Given the description of an element on the screen output the (x, y) to click on. 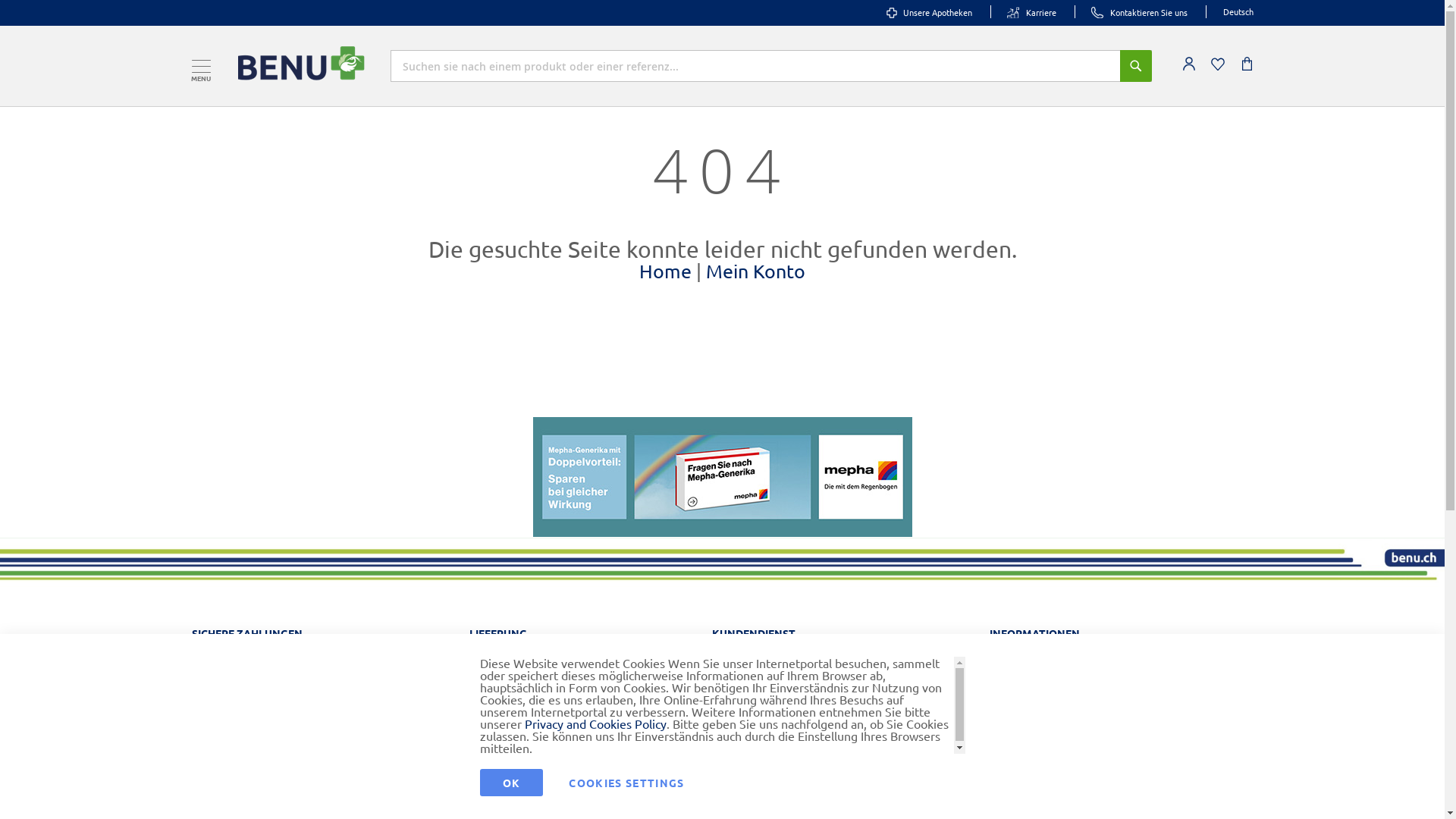
Kontaktieren Sie uns Element type: text (838, 664)
MENU Element type: text (200, 65)
Privacy and Cookies Policy Element type: text (595, 723)
Home Element type: text (665, 270)
Kontaktieren Sie uns Element type: text (1138, 12)
Mein Warenkorb Element type: text (1248, 63)
Unsere Apotheken Element type: text (928, 12)
Mein Konto Element type: text (1188, 63)
Die Direktion Element type: text (1109, 786)
Wussten Sie dass ? Element type: text (838, 713)
Rechtliche Informationen Element type: text (1109, 689)
Meine Wunschliste Element type: text (1216, 63)
OK Element type: text (510, 782)
Karriere Element type: text (1031, 12)
Suche Element type: text (1135, 65)
Mein Konto Element type: text (755, 270)
COOKIES SETTINGS Element type: text (626, 782)
